Given the description of an element on the screen output the (x, y) to click on. 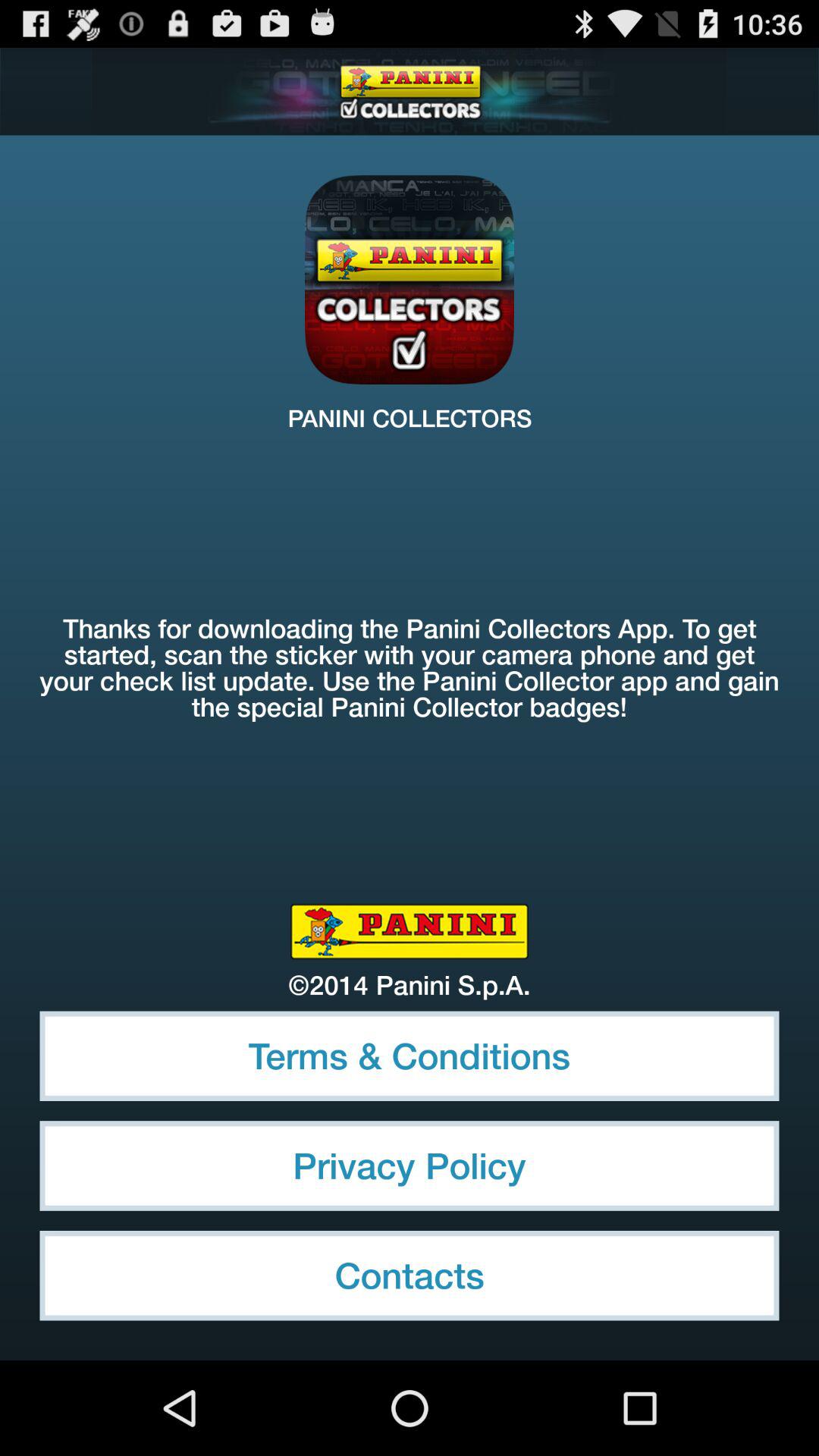
flip to contacts icon (409, 1275)
